Given the description of an element on the screen output the (x, y) to click on. 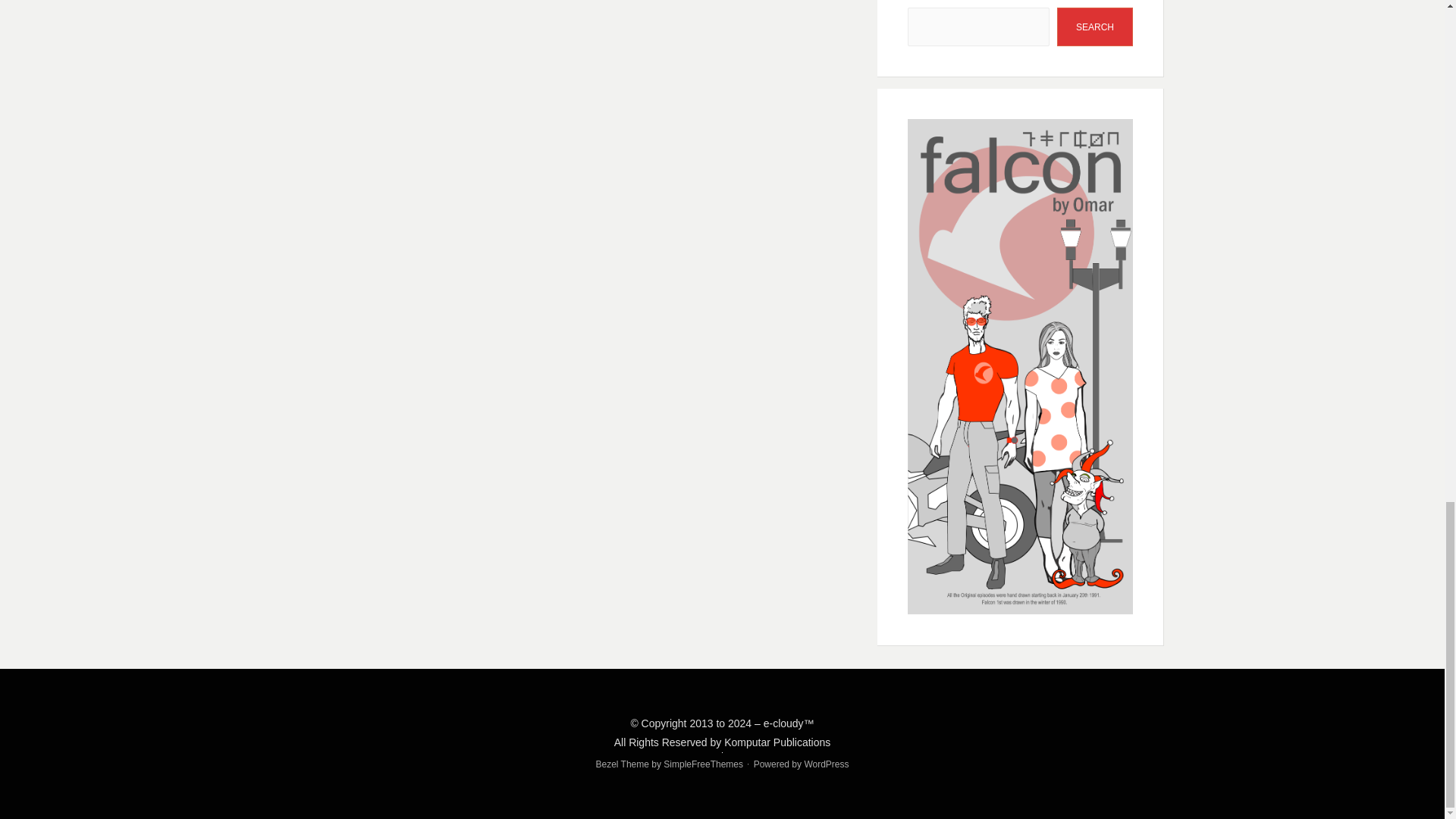
SimpleFreeThemes (702, 764)
WordPress (825, 764)
